Given the description of an element on the screen output the (x, y) to click on. 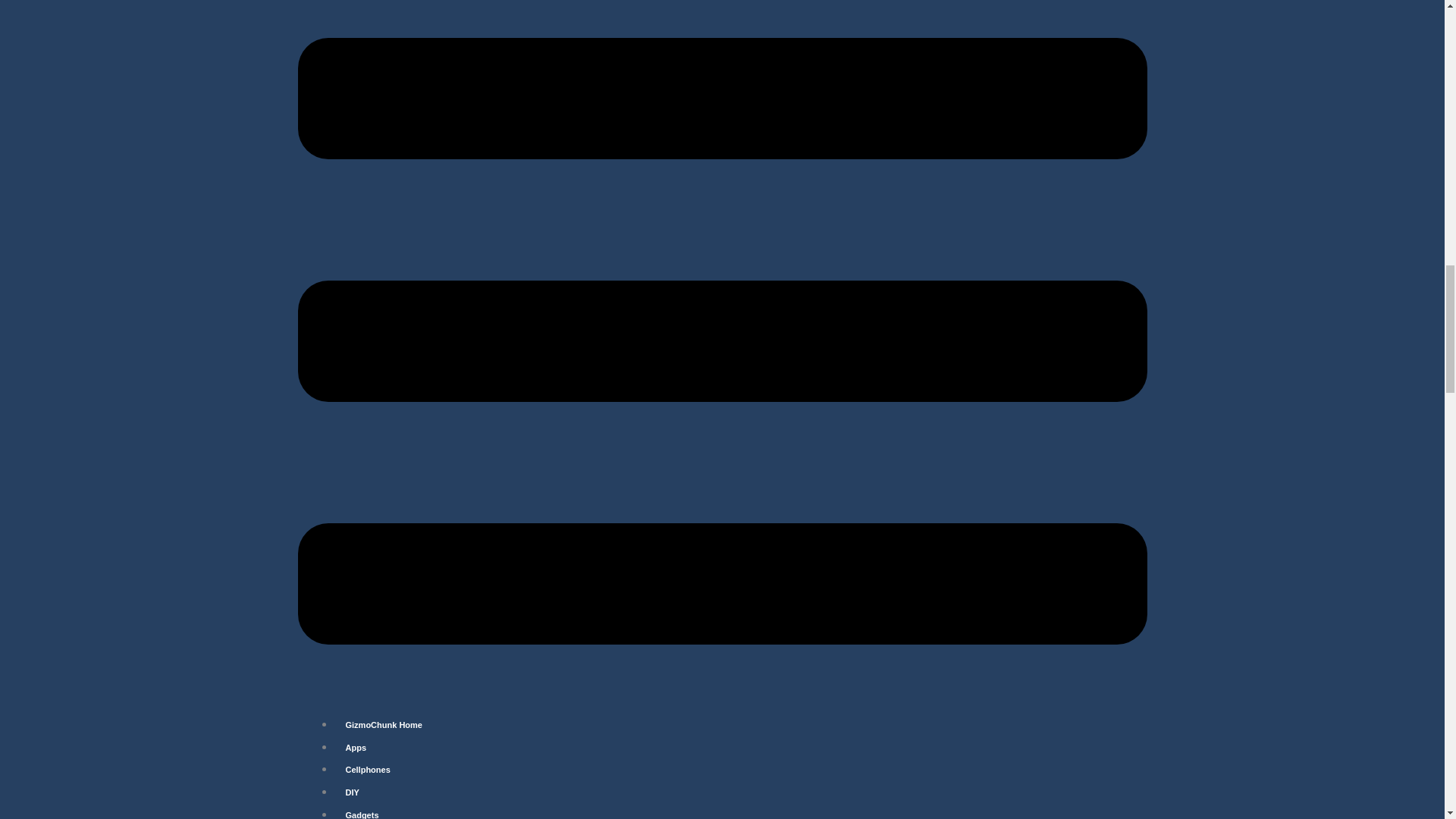
Apps (355, 747)
Cellphones (367, 769)
Gadgets (361, 809)
GizmoChunk Home (382, 725)
DIY (351, 792)
